Given the description of an element on the screen output the (x, y) to click on. 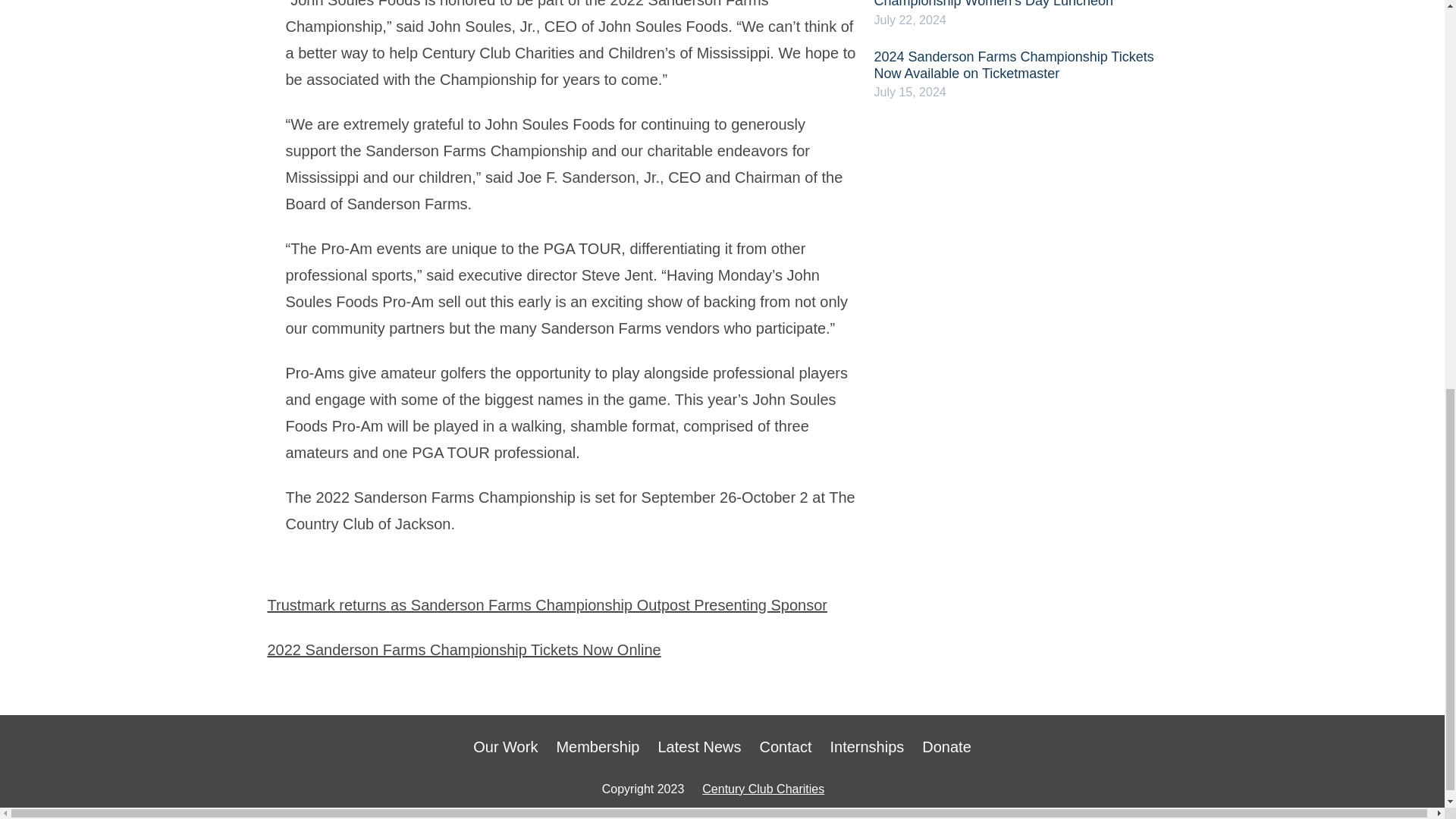
Our Work (505, 746)
Donate (946, 746)
Contact (786, 746)
Internships (866, 746)
Membership (597, 746)
2022 Sanderson Farms Championship Tickets Now Online (463, 649)
Century Club Charities (762, 788)
Latest News (699, 746)
